Given the description of an element on the screen output the (x, y) to click on. 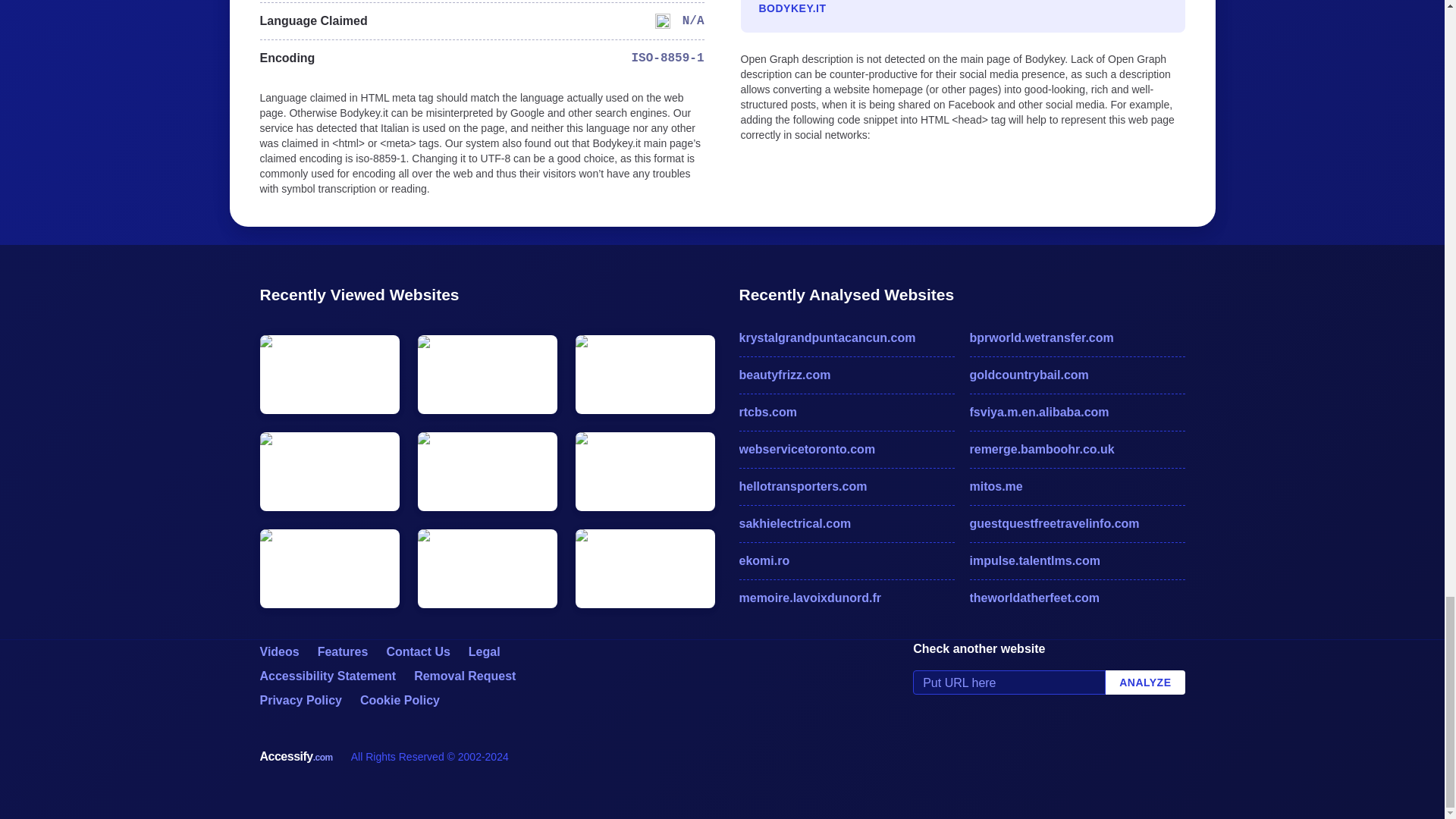
goldcountrybail.com (1077, 375)
rtcbs.com (845, 412)
guestquestfreetravelinfo.com (1077, 524)
krystalgrandpuntacancun.com (845, 338)
mitos.me (1077, 486)
beautyfrizz.com (845, 375)
impulse.talentlms.com (1077, 561)
remerge.bamboohr.co.uk (1077, 449)
webservicetoronto.com (845, 449)
ekomi.ro (845, 561)
bprworld.wetransfer.com (1077, 338)
fsviya.m.en.alibaba.com (1077, 412)
Legal (484, 651)
memoire.lavoixdunord.fr (845, 597)
